Given the description of an element on the screen output the (x, y) to click on. 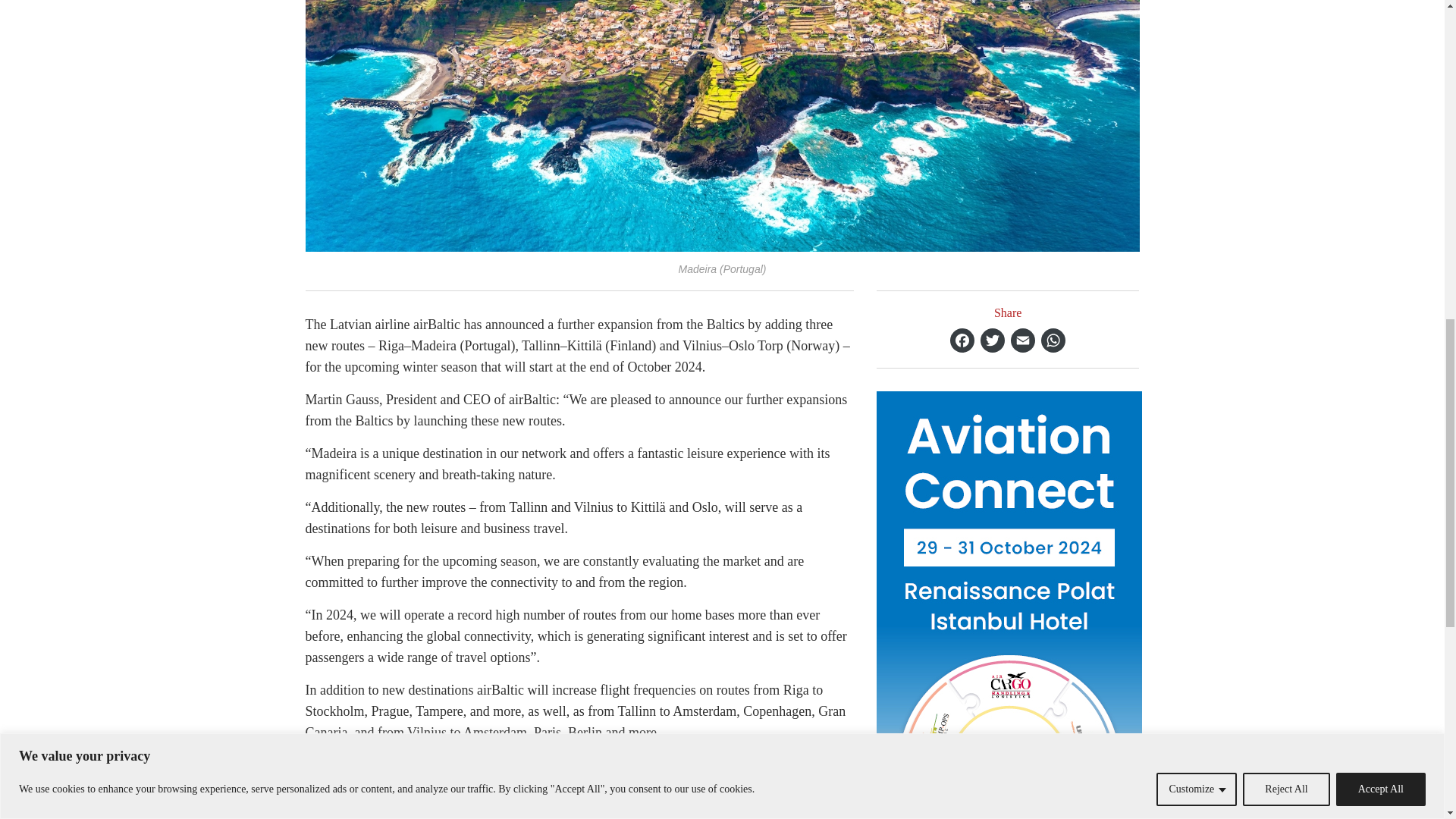
Email (1022, 340)
Twitter (991, 340)
WhatsApp (1053, 340)
Facebook (961, 340)
